Given the description of an element on the screen output the (x, y) to click on. 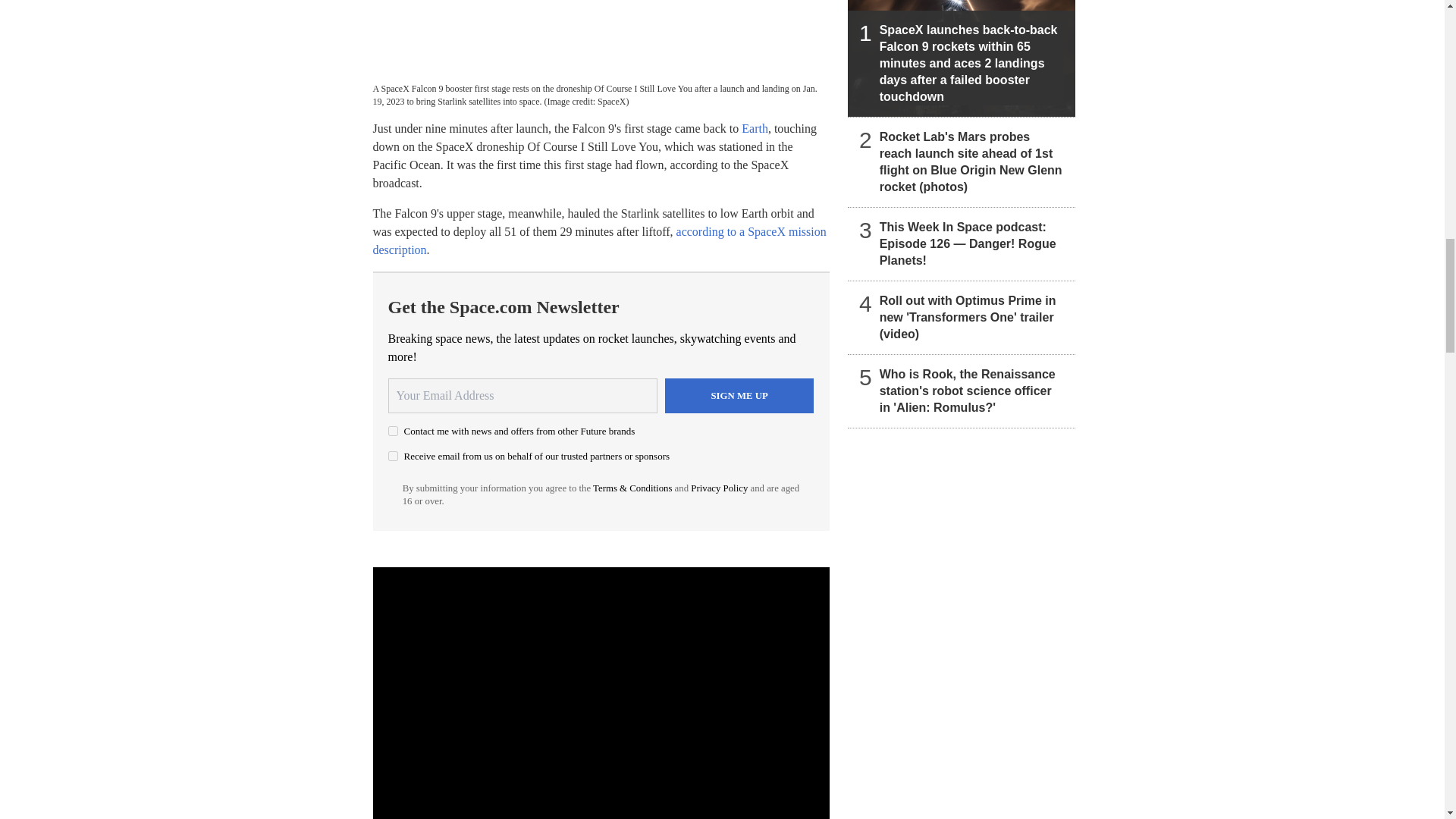
Sign me up (739, 395)
on (392, 456)
on (392, 430)
